Given the description of an element on the screen output the (x, y) to click on. 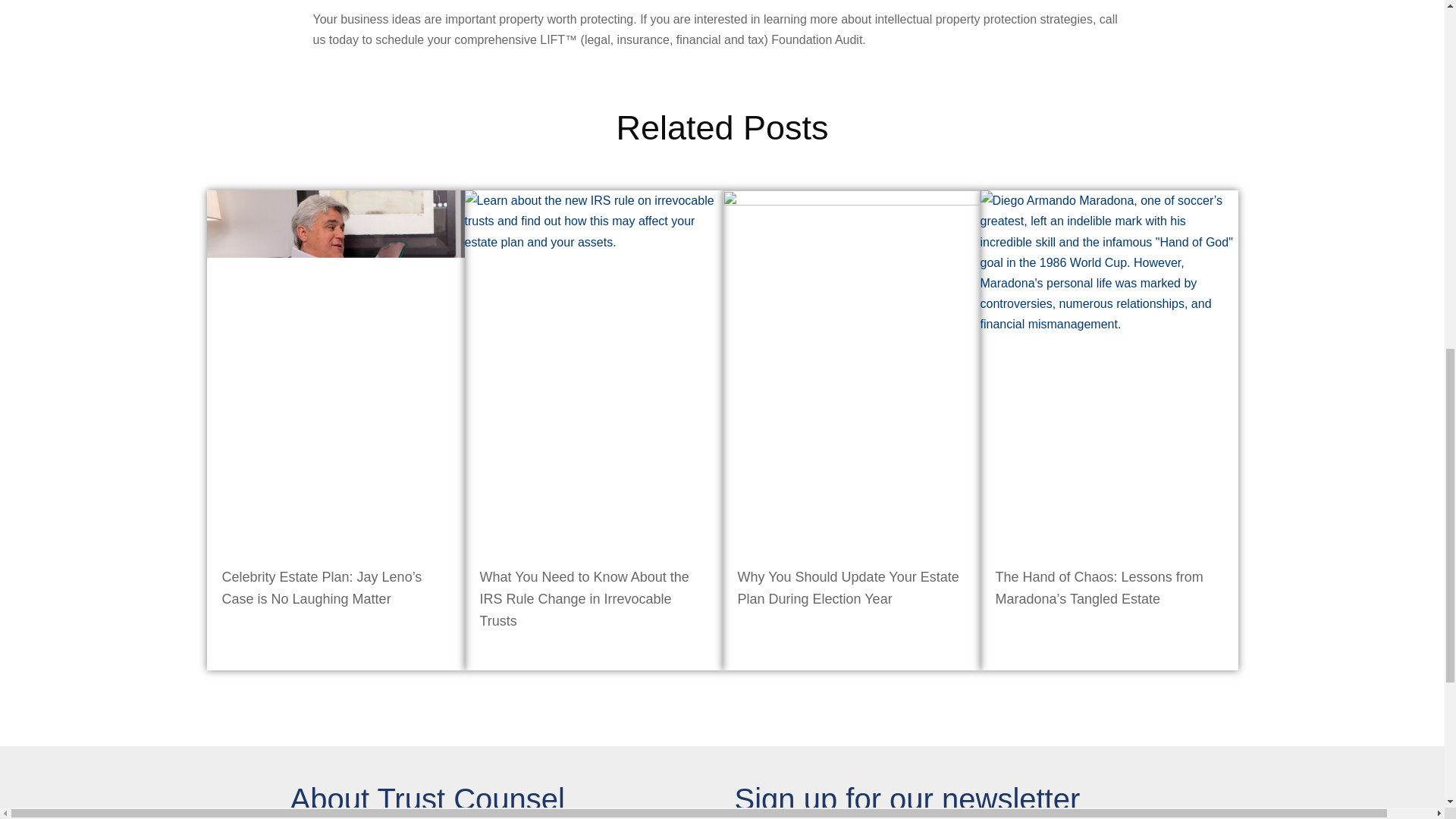
Why You Should Update Your Estate Plan During Election Year (847, 587)
